Given the description of an element on the screen output the (x, y) to click on. 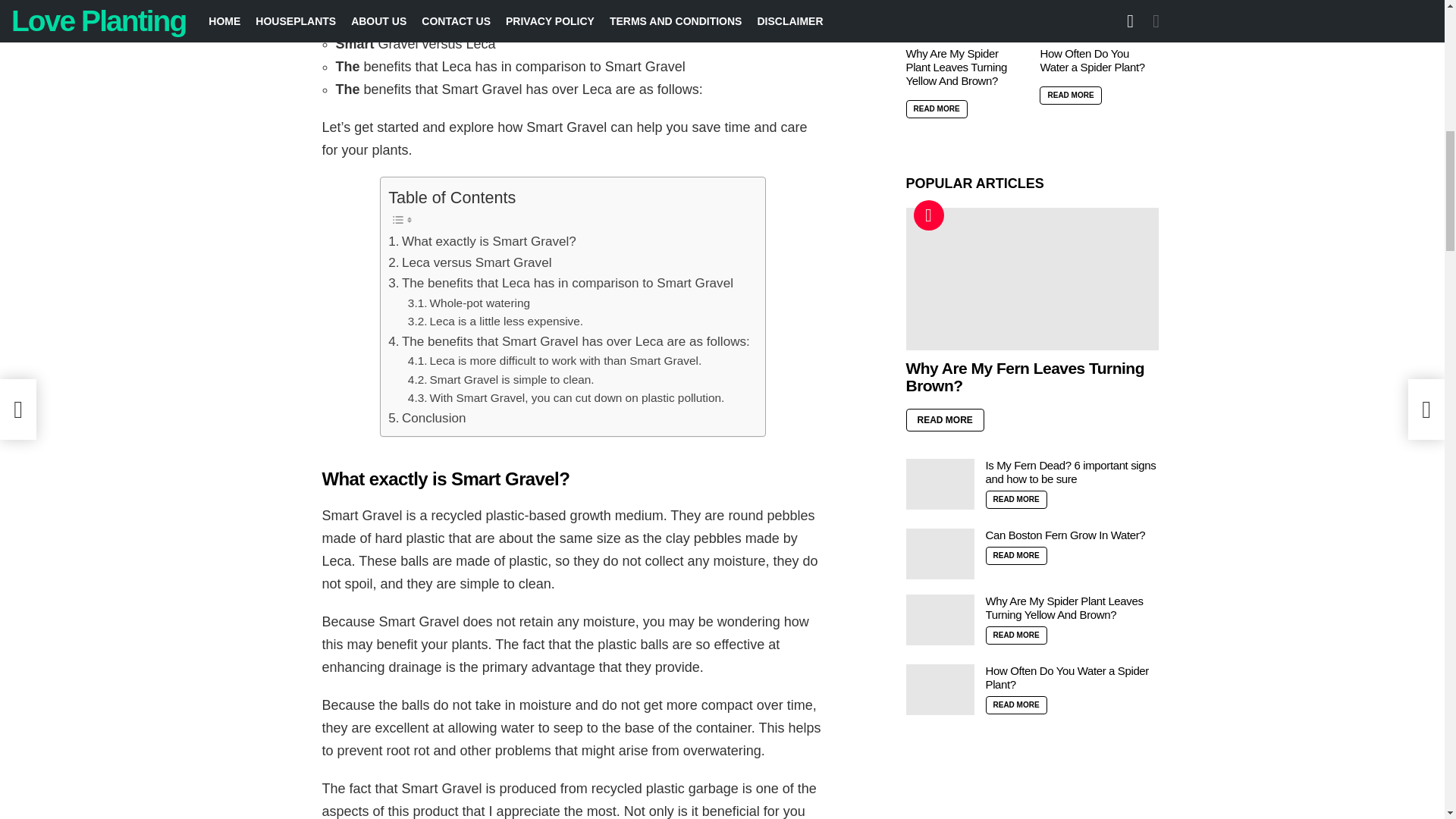
With Smart Gravel, you can cut down on plastic pollution. (566, 398)
Whole-pot watering (468, 303)
The benefits that Leca has in comparison to Smart Gravel (560, 282)
Smart Gravel is simple to clean. (500, 380)
What exactly is Smart Gravel? (482, 240)
Leca is a little less expensive. (495, 321)
With Smart Gravel, you can cut down on plastic pollution. (566, 398)
Leca versus Smart Gravel (469, 262)
Smart Gravel is simple to clean. (500, 380)
What exactly is Smart Gravel? (482, 240)
